Given the description of an element on the screen output the (x, y) to click on. 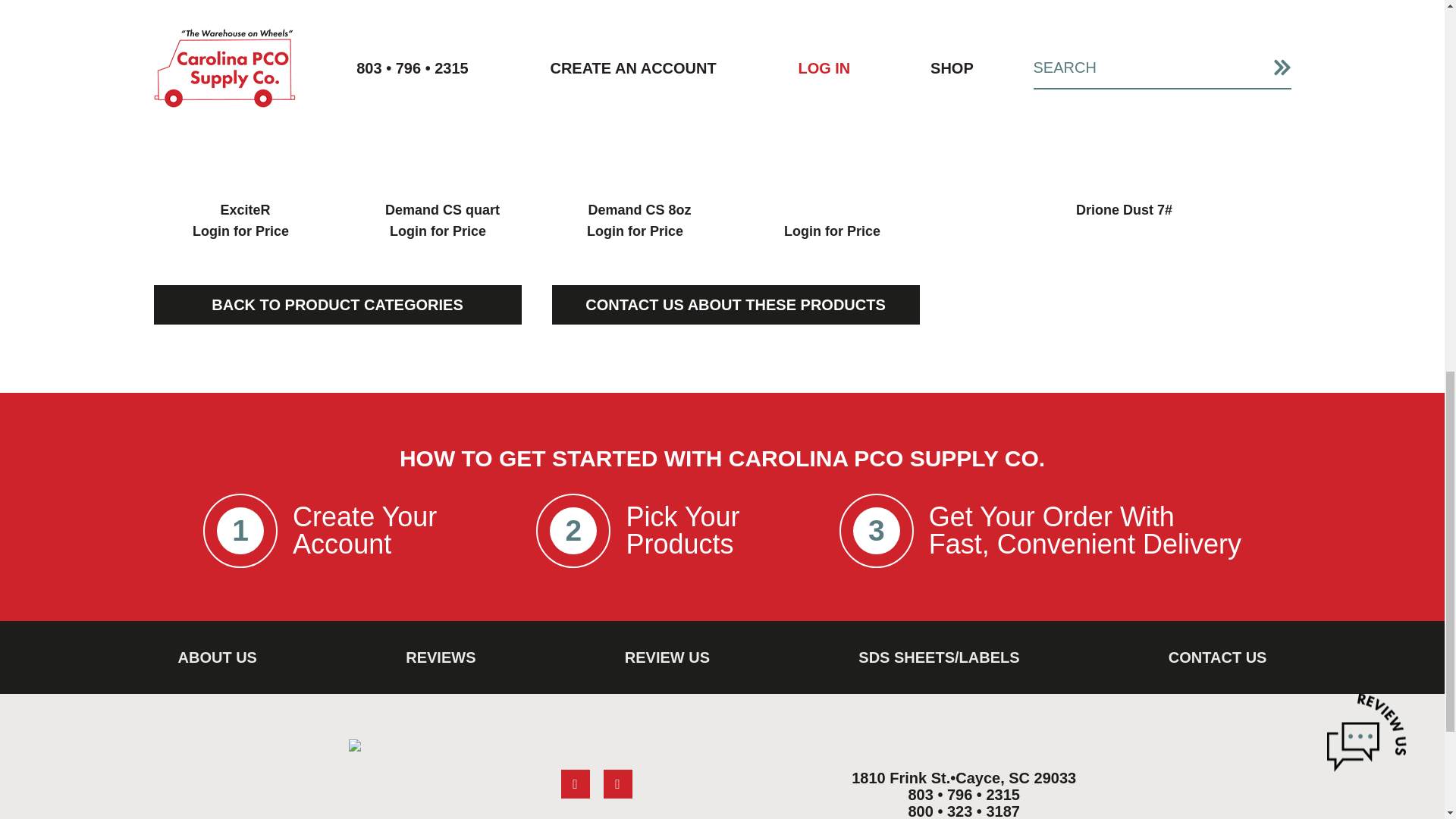
Login for Price (634, 231)
Demand CS quart (442, 121)
Login for Price (240, 231)
REVIEWS (440, 657)
Demand CS 8oz (638, 121)
CONTACT US ABOUT THESE PRODUCTS (735, 304)
Login for Price (438, 231)
carolina pco (355, 745)
ABOUT US (216, 657)
BACK TO PRODUCT CATEGORIES (336, 304)
ExciteR (244, 121)
Login for Price (832, 231)
